Given the description of an element on the screen output the (x, y) to click on. 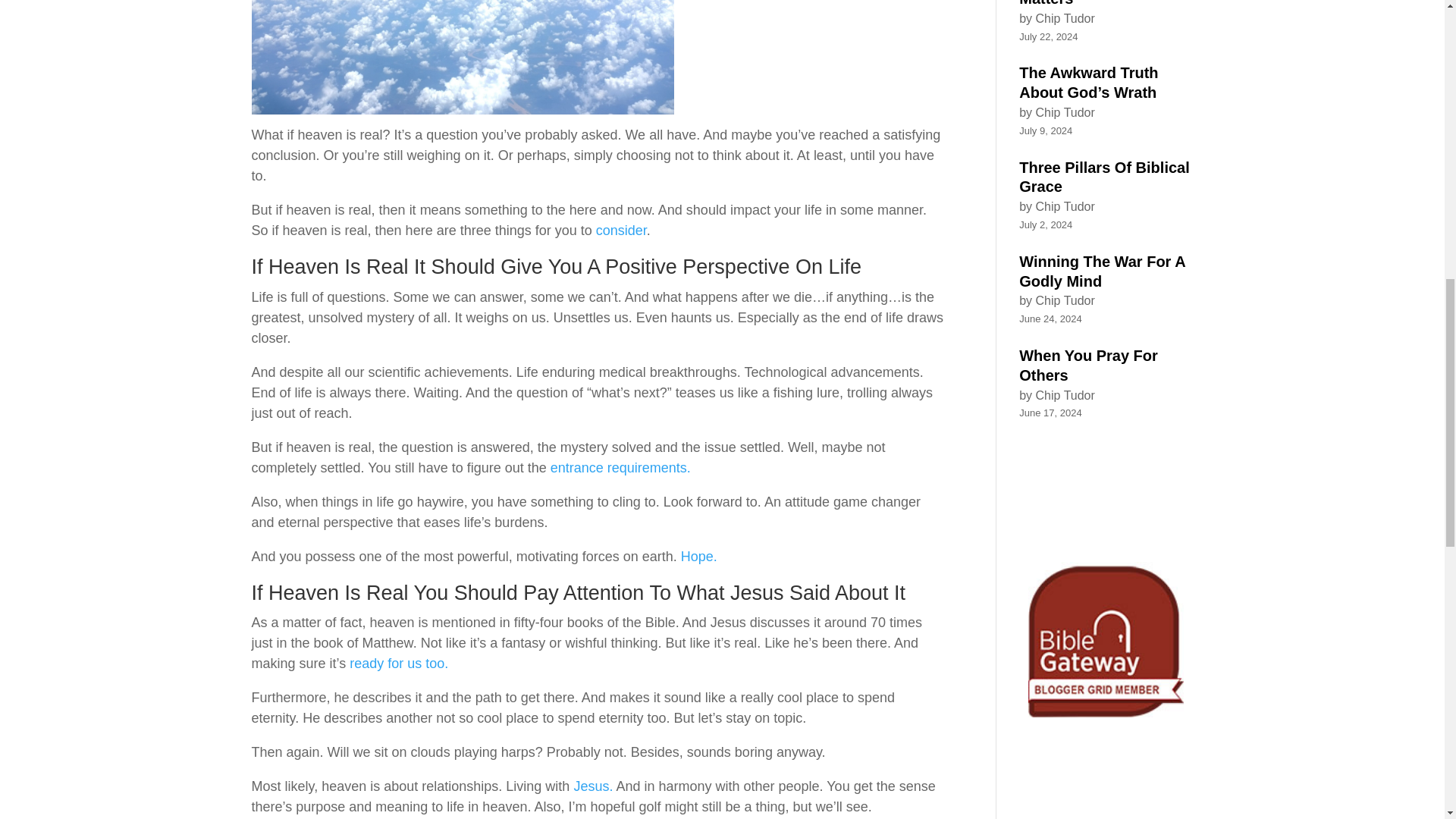
Hope. (699, 556)
Four Lessons From The Biblical Story Of Noah's Ark (1105, 489)
Jesus. (592, 785)
entrance requirements. (620, 467)
consider (620, 230)
ready for us too. (398, 663)
